Given the description of an element on the screen output the (x, y) to click on. 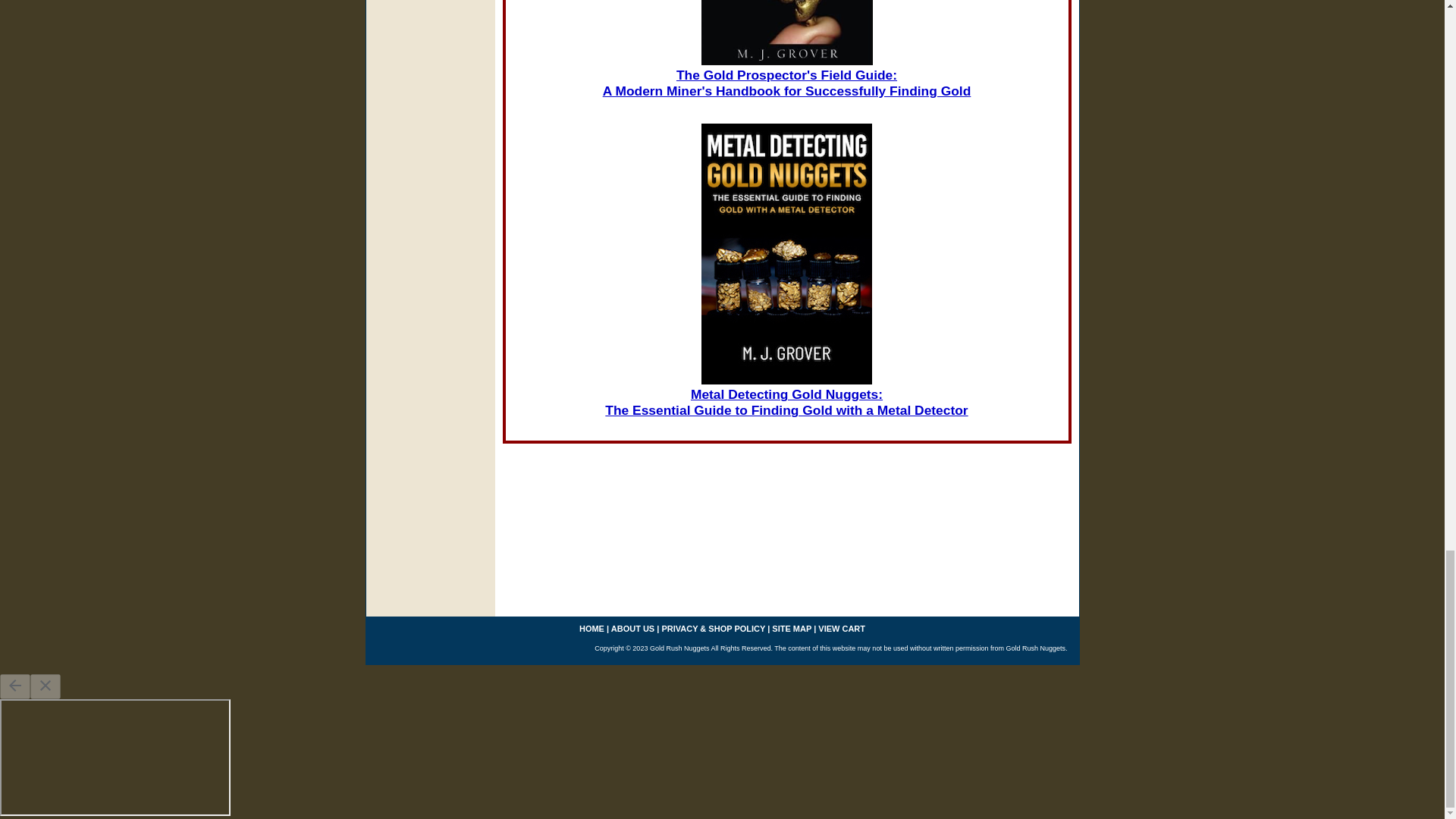
VIEW CART (841, 628)
HOME (591, 628)
SITE MAP (790, 628)
ABOUT US (632, 628)
